Given the description of an element on the screen output the (x, y) to click on. 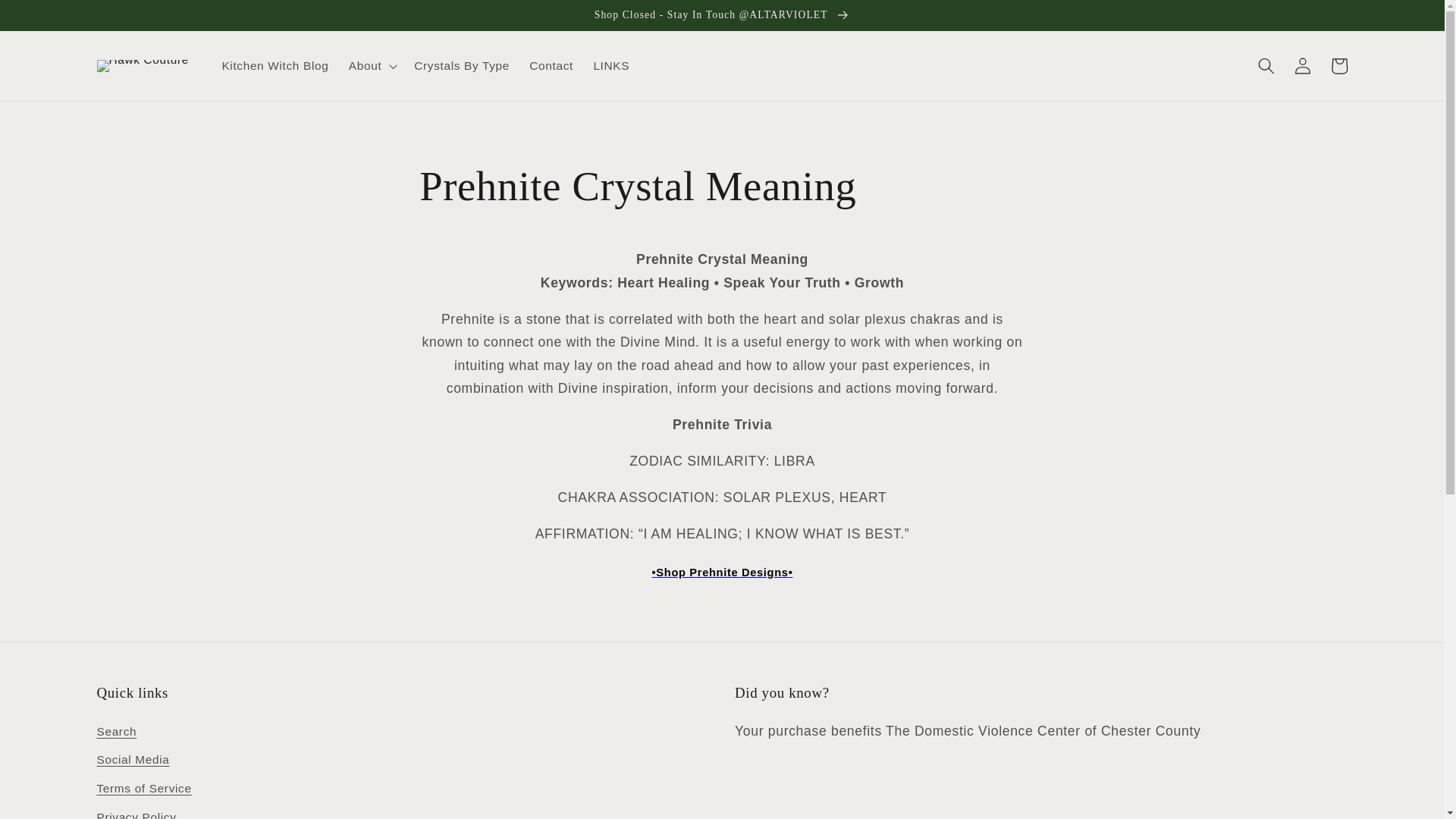
Kitchen Witch Blog (274, 65)
Terms of Service (144, 788)
Skip to content (49, 18)
Log in (1302, 65)
Cart (1338, 65)
Contact (551, 65)
Search (116, 733)
Shop Prehnite Designs Jewelry Necklaces Rings Earrings (722, 571)
LINKS (611, 65)
Social Media (133, 760)
Crystals By Type (461, 65)
Privacy Policy (136, 811)
